Given the description of an element on the screen output the (x, y) to click on. 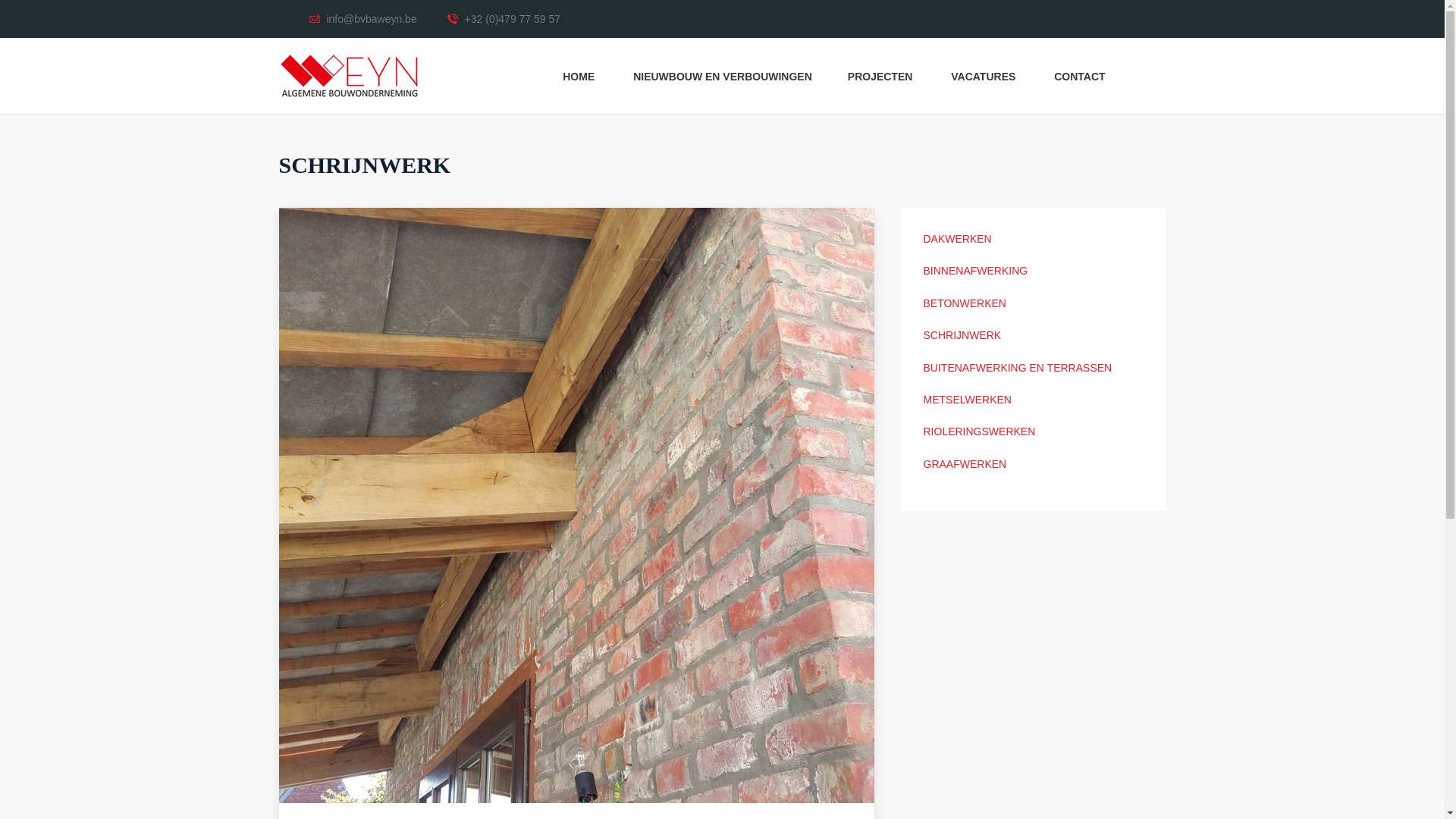
BINNENAFWERKING Element type: text (975, 270)
+32 (0)479 77 59 57 Element type: text (503, 18)
BVBA Weyn Element type: hover (349, 75)
info@bvbaweyn.be Element type: text (363, 18)
PROJECTEN  Element type: text (881, 75)
SCHRIJNWERK Element type: text (962, 335)
BETONWERKEN Element type: text (964, 303)
HOME  Element type: text (579, 75)
VACATURES  Element type: text (984, 75)
GRAAFWERKEN Element type: text (965, 464)
METSELWERKEN Element type: text (967, 399)
BUITENAFWERKING EN TERRASSEN Element type: text (1017, 367)
DAKWERKEN Element type: text (957, 238)
RIOLERINGSWERKEN Element type: text (979, 431)
NIEUWBOUW EN VERBOUWINGEN Element type: text (722, 75)
CONTACT  Element type: text (1080, 75)
